Given the description of an element on the screen output the (x, y) to click on. 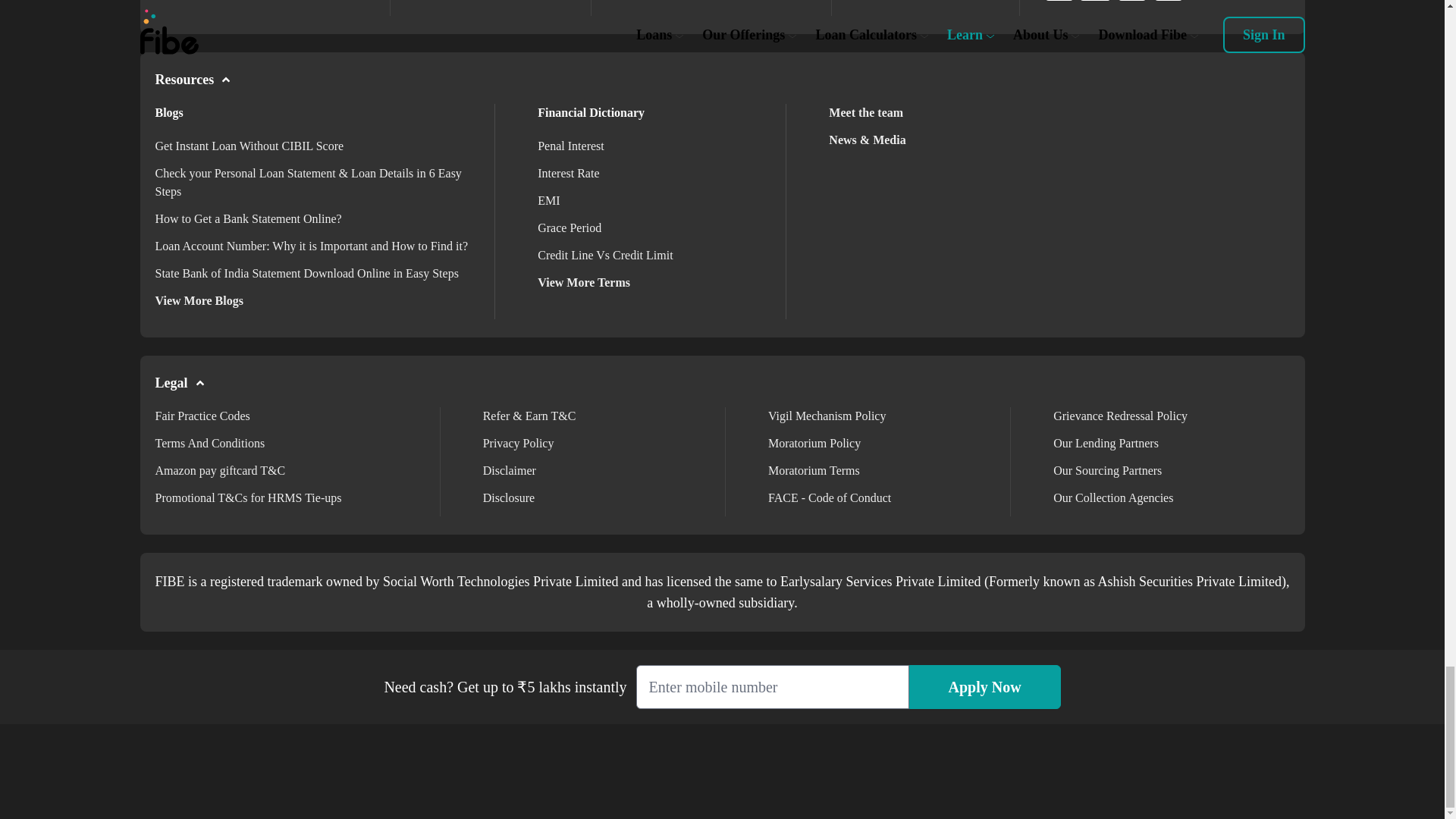
vigil mechanism policy (826, 415)
face code conduct (829, 497)
Our Lending Partners (1105, 442)
Privacy Policy (518, 442)
Our Sourcing Partners (1106, 470)
Our Collection Agencies (1112, 497)
Grievance Redressal Policy (1120, 415)
moratorium policy (814, 442)
fair code practices (201, 415)
terms conditions (209, 442)
disclosure (508, 497)
